Given the description of an element on the screen output the (x, y) to click on. 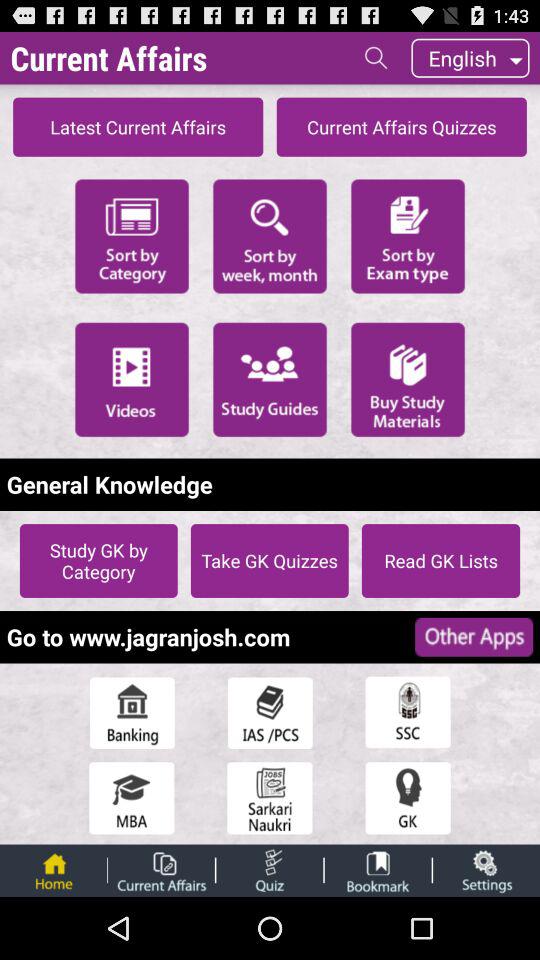
turn off the icon to the left of take gk quizzes item (98, 560)
